Given the description of an element on the screen output the (x, y) to click on. 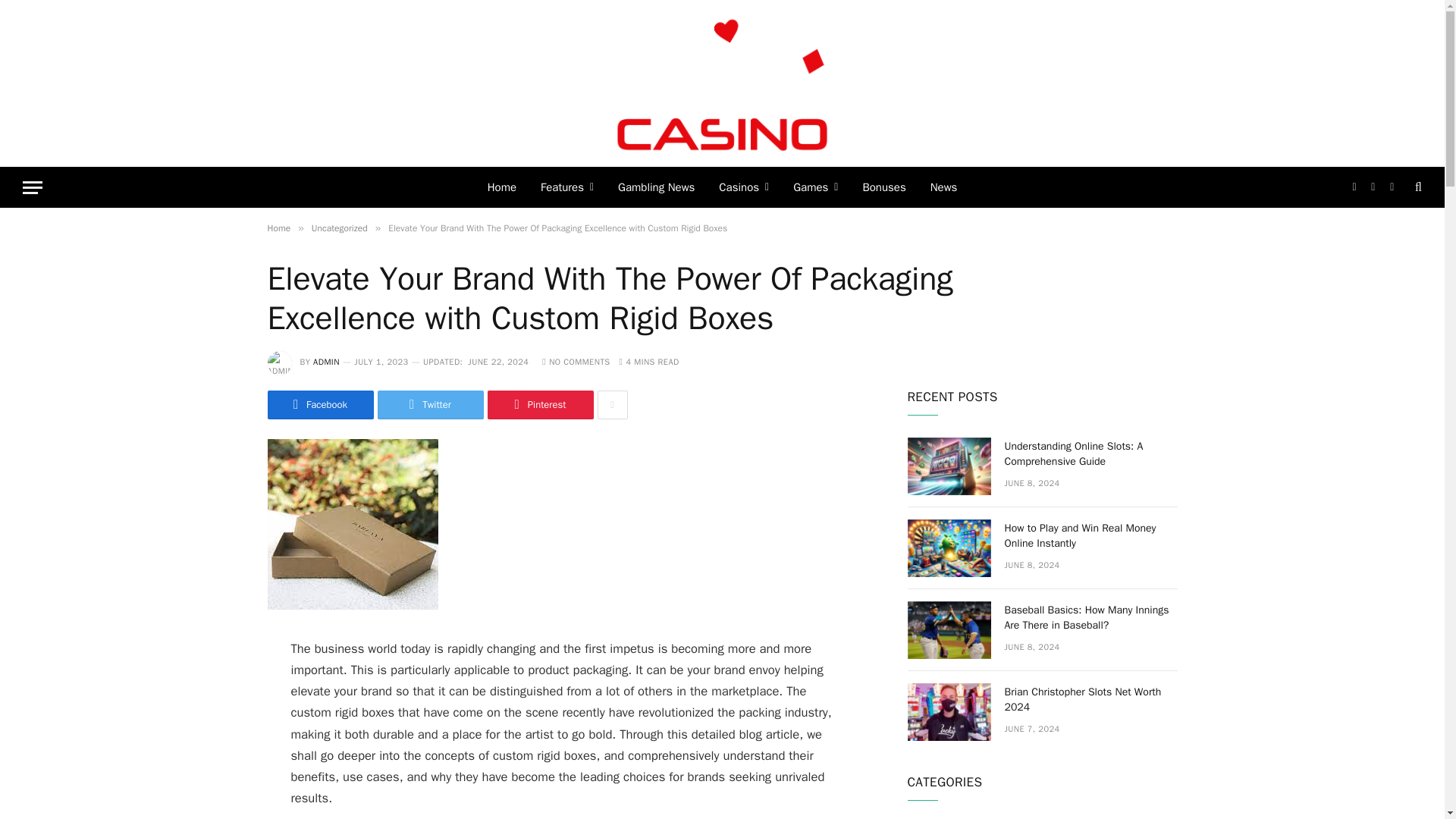
Home (502, 187)
Gambling News (655, 187)
Share on Facebook (319, 404)
Posts by admin (326, 361)
Features (566, 187)
Share on Pinterest (539, 404)
Most Famous Casino  (722, 83)
